Given the description of an element on the screen output the (x, y) to click on. 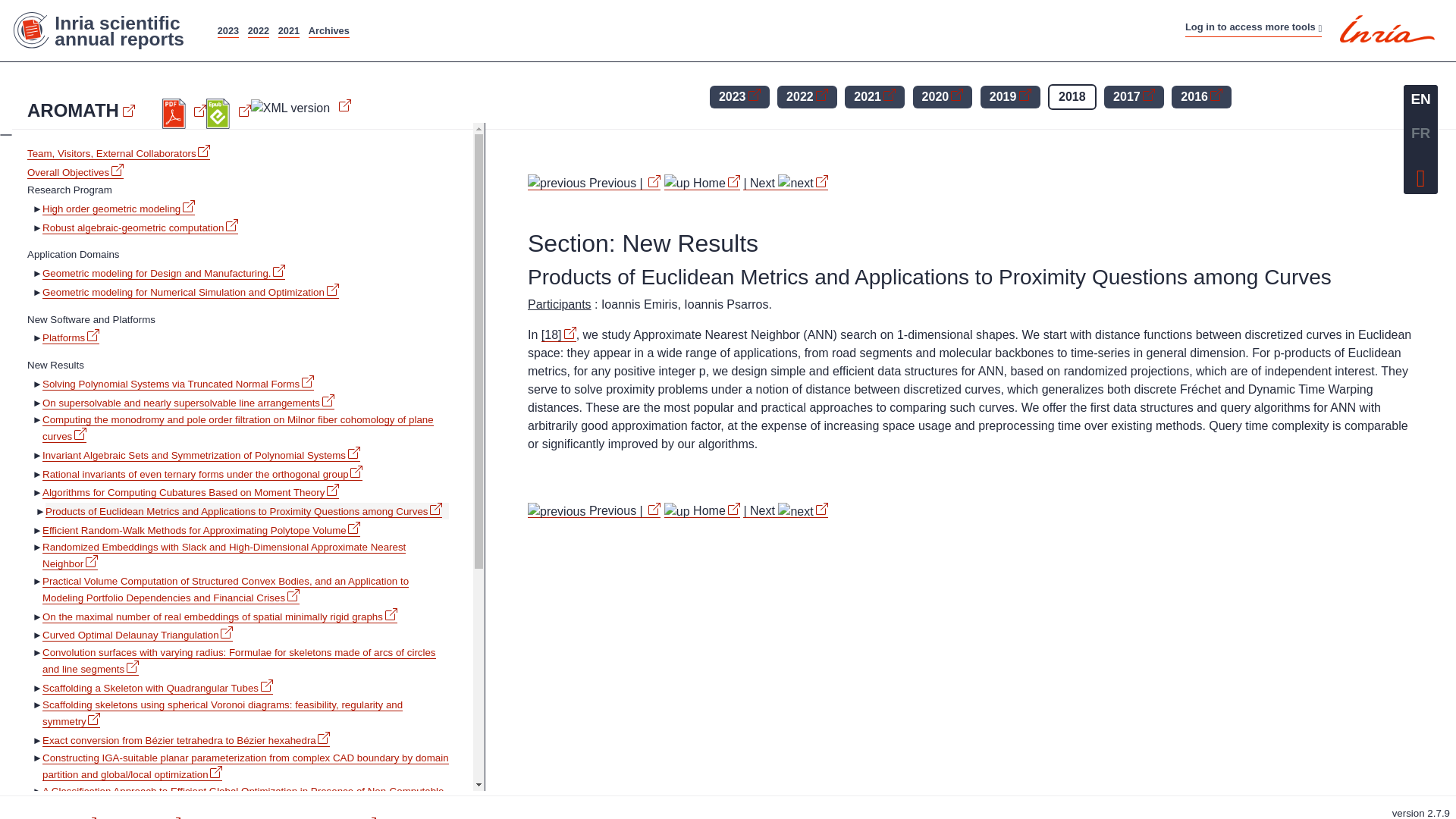
2021 (288, 30)
Site map (686, 23)
Main content (625, 23)
Accessibility (747, 23)
2022 (258, 30)
All archives (328, 30)
2023 annual reports (227, 30)
Search (804, 23)
2021 annual reports (288, 30)
Current language en (1420, 99)
Log in to access more tools (1253, 27)
AROMATH (81, 110)
 FR: Use french language (1420, 133)
2023 (227, 30)
FR (1420, 133)
